Given the description of an element on the screen output the (x, y) to click on. 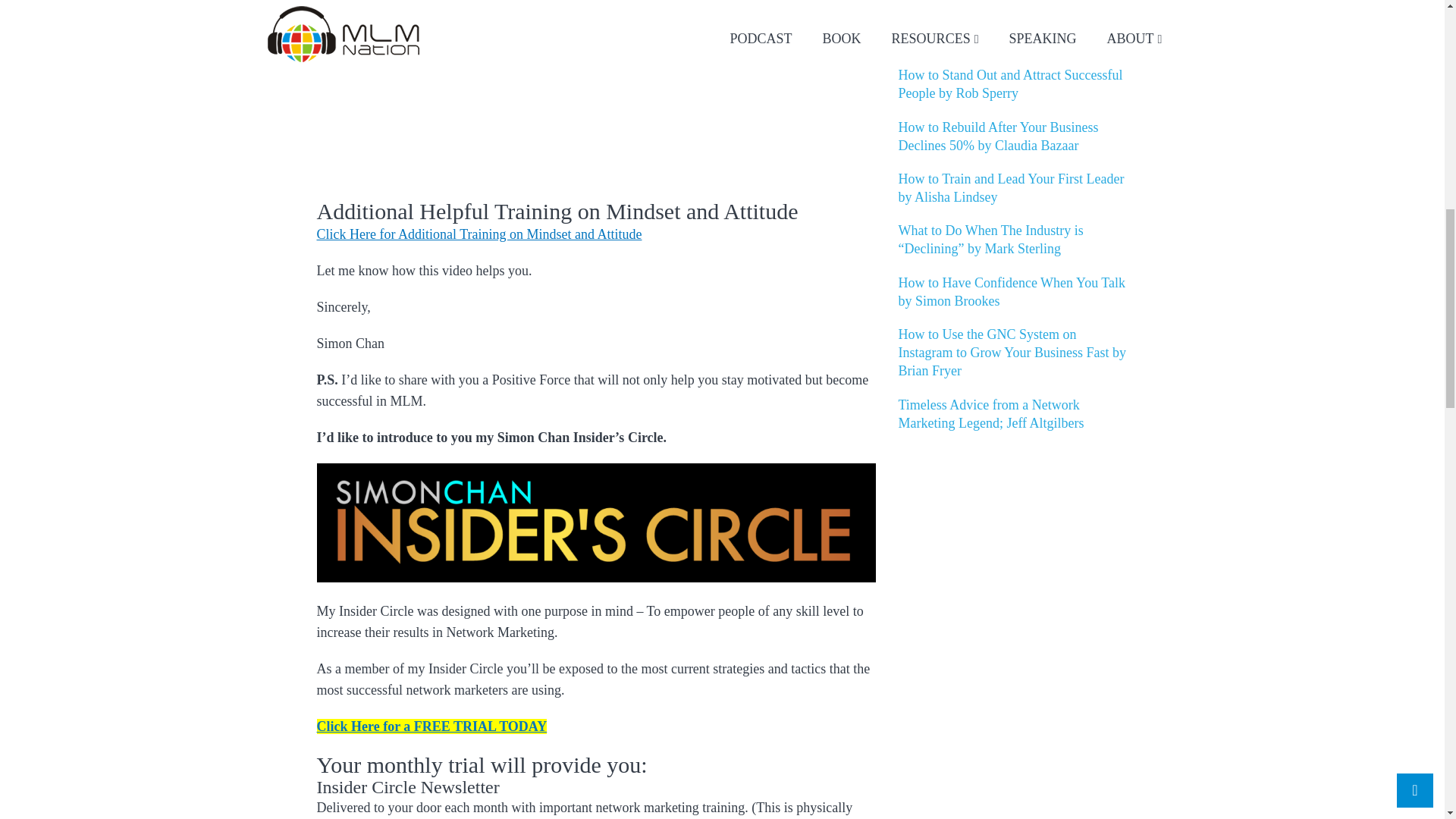
Click Here for Additional Training on Mindset and Attitude (479, 233)
Click Here for a FREE TRIAL TODAY (432, 726)
